Given the description of an element on the screen output the (x, y) to click on. 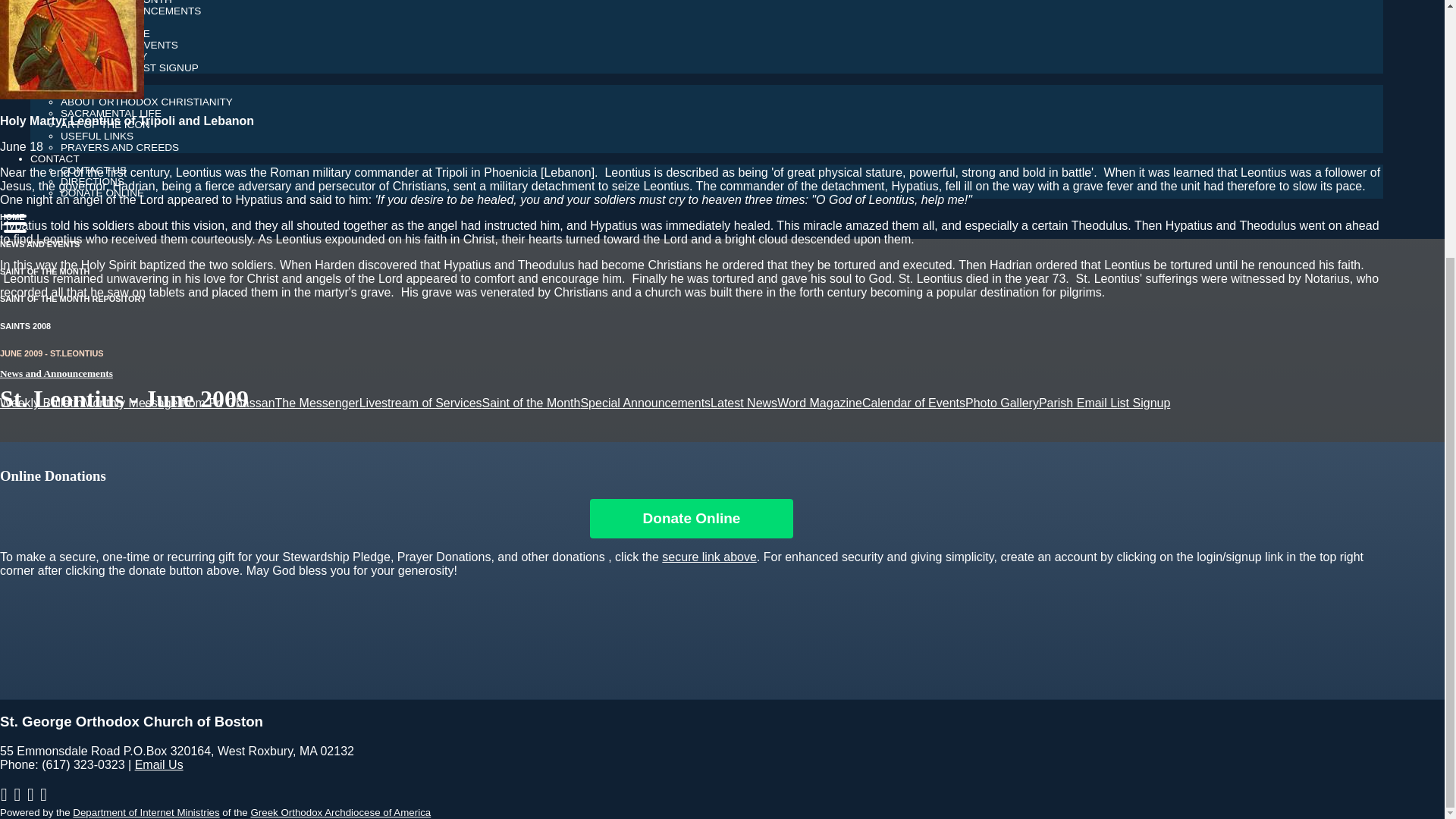
Saint of the Month (530, 402)
Saint of the Month Repository (72, 298)
Livestream of Services (420, 402)
Our Faith (57, 79)
Special Announcements (644, 402)
Weekly Bulletin (41, 402)
Monthly Message from Fr. Ghassan (178, 402)
News and Events (40, 243)
Saint of the Month (44, 271)
Saints 2008 (25, 325)
Contact (55, 158)
The Messenger (317, 402)
